Given the description of an element on the screen output the (x, y) to click on. 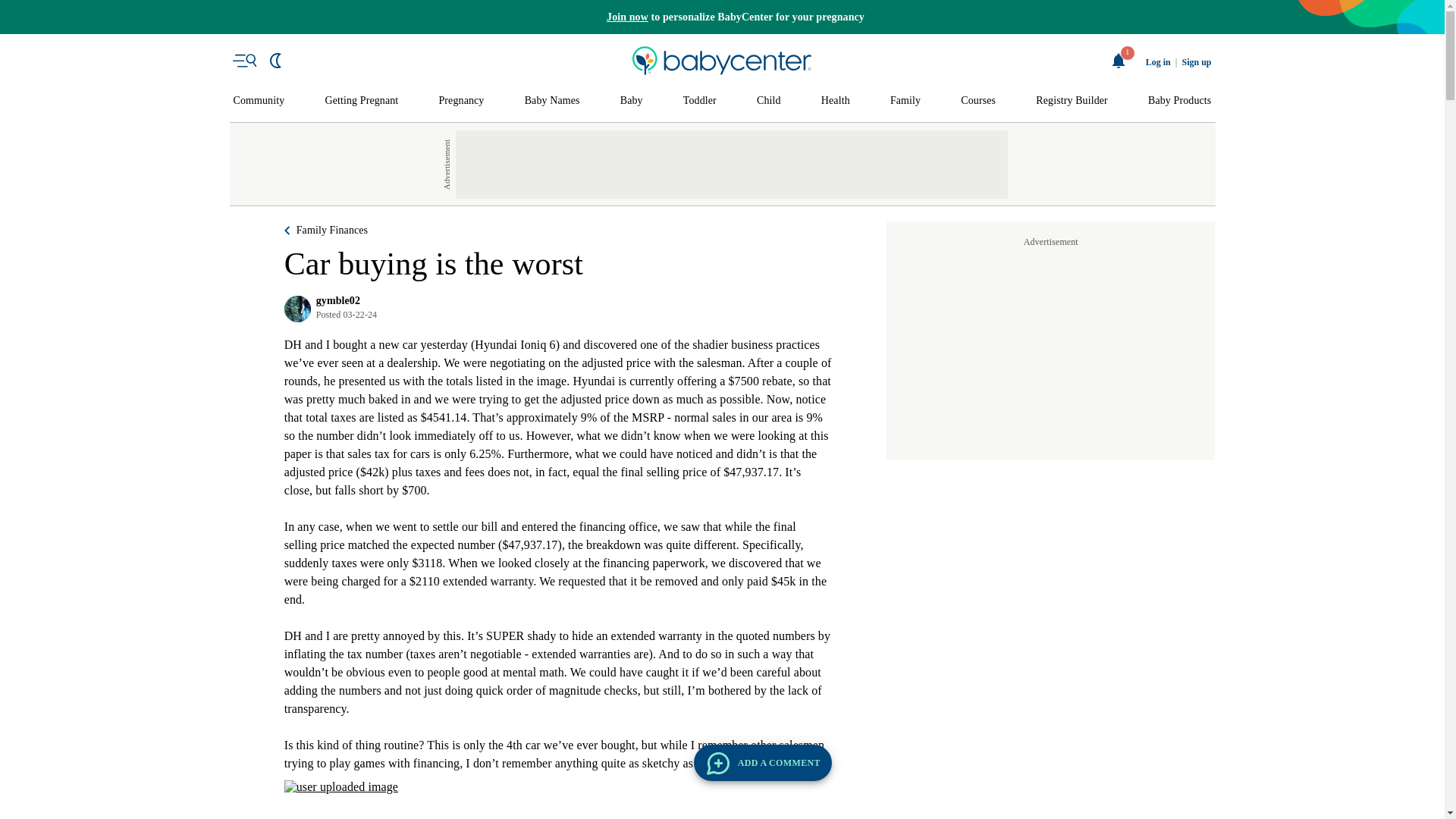
Registry Builder (1071, 101)
Child (768, 101)
Health (835, 101)
Getting Pregnant (360, 101)
Baby Products (1179, 101)
Baby Names (551, 101)
Community (258, 101)
Pregnancy (460, 101)
Log in (1157, 61)
Family (904, 101)
1 (1118, 60)
Sign up (1195, 61)
Toddler (699, 101)
Courses (977, 101)
Baby (631, 101)
